Given the description of an element on the screen output the (x, y) to click on. 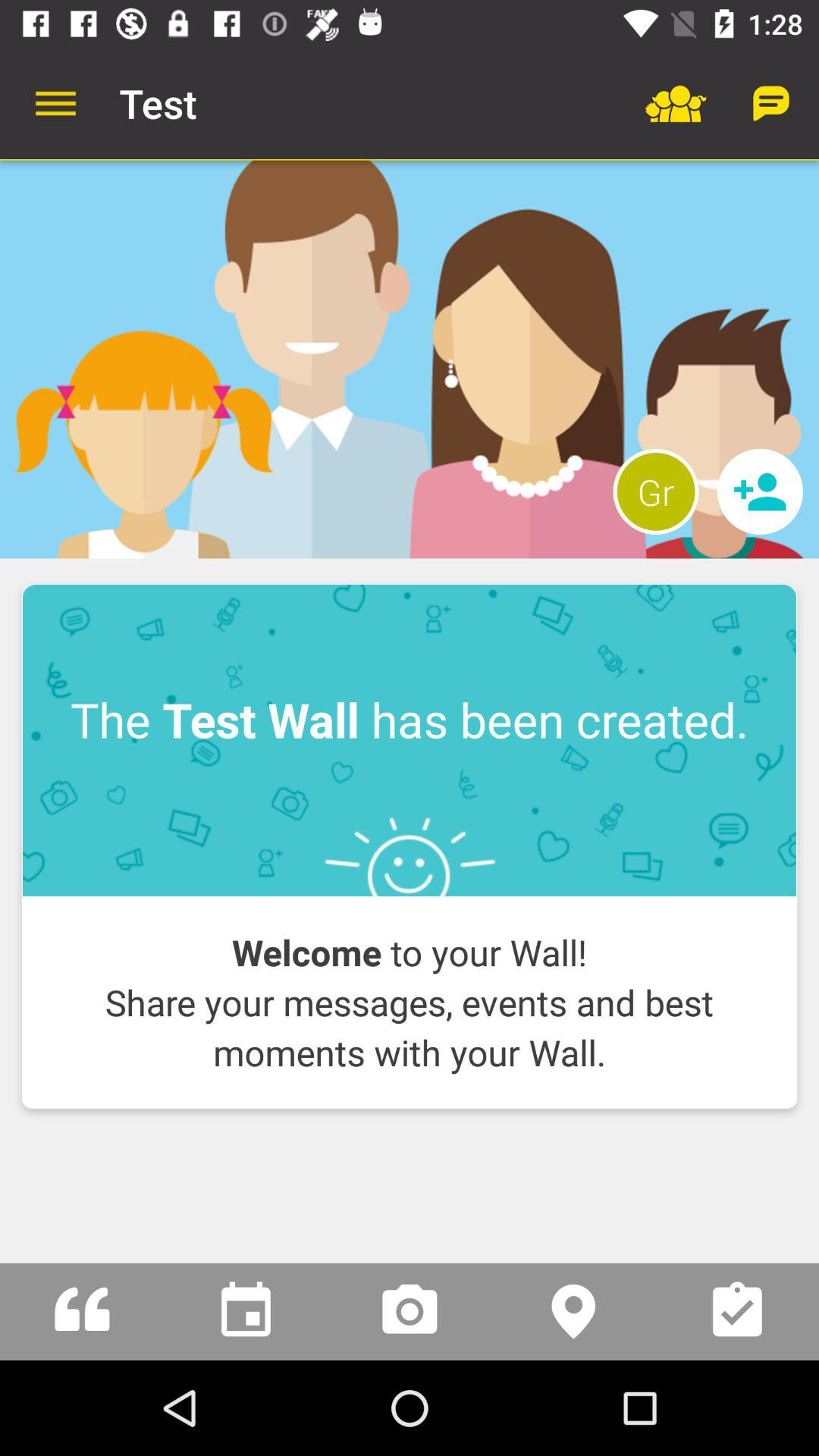
to-do lists (737, 1311)
